Given the description of an element on the screen output the (x, y) to click on. 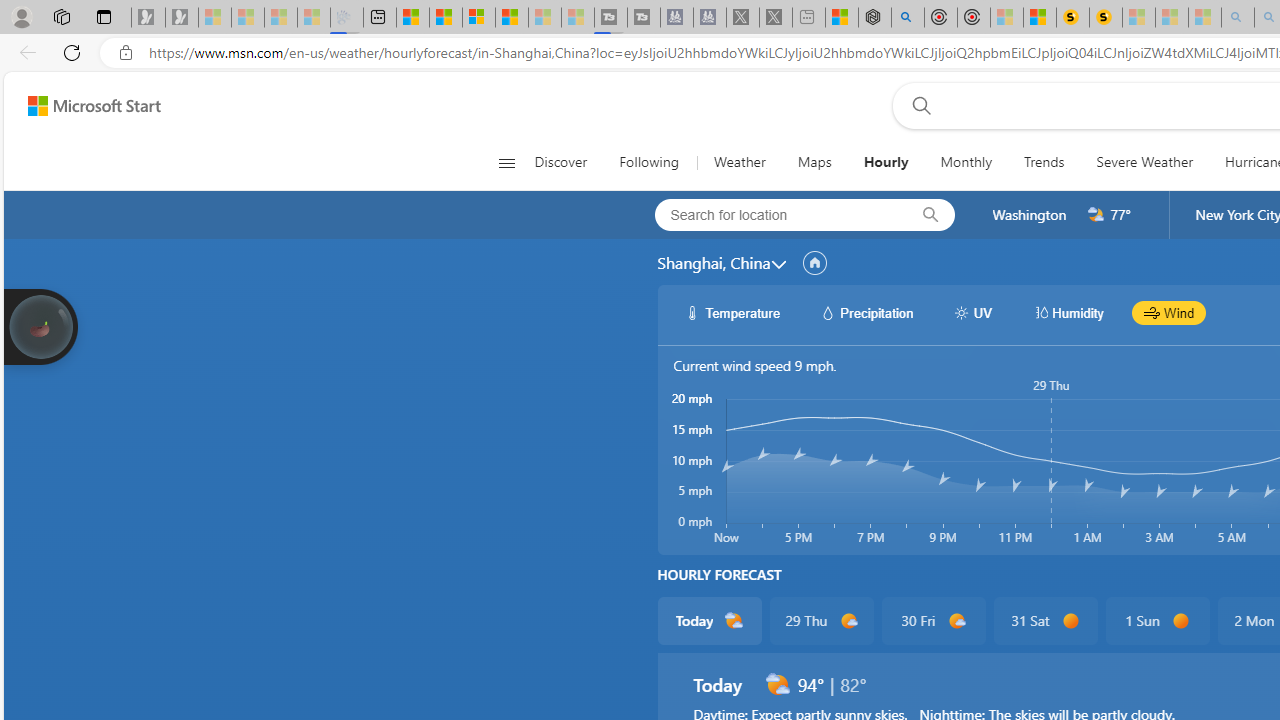
Hourly (886, 162)
hourlyChart/windBlack (1152, 312)
Maps (813, 162)
Class: button-glyph (505, 162)
Overview (479, 17)
Skip to footer (82, 105)
hourlyChart/precipitationWhite (828, 312)
Trends (1044, 162)
amazon - Search - Sleeping (1238, 17)
